Given the description of an element on the screen output the (x, y) to click on. 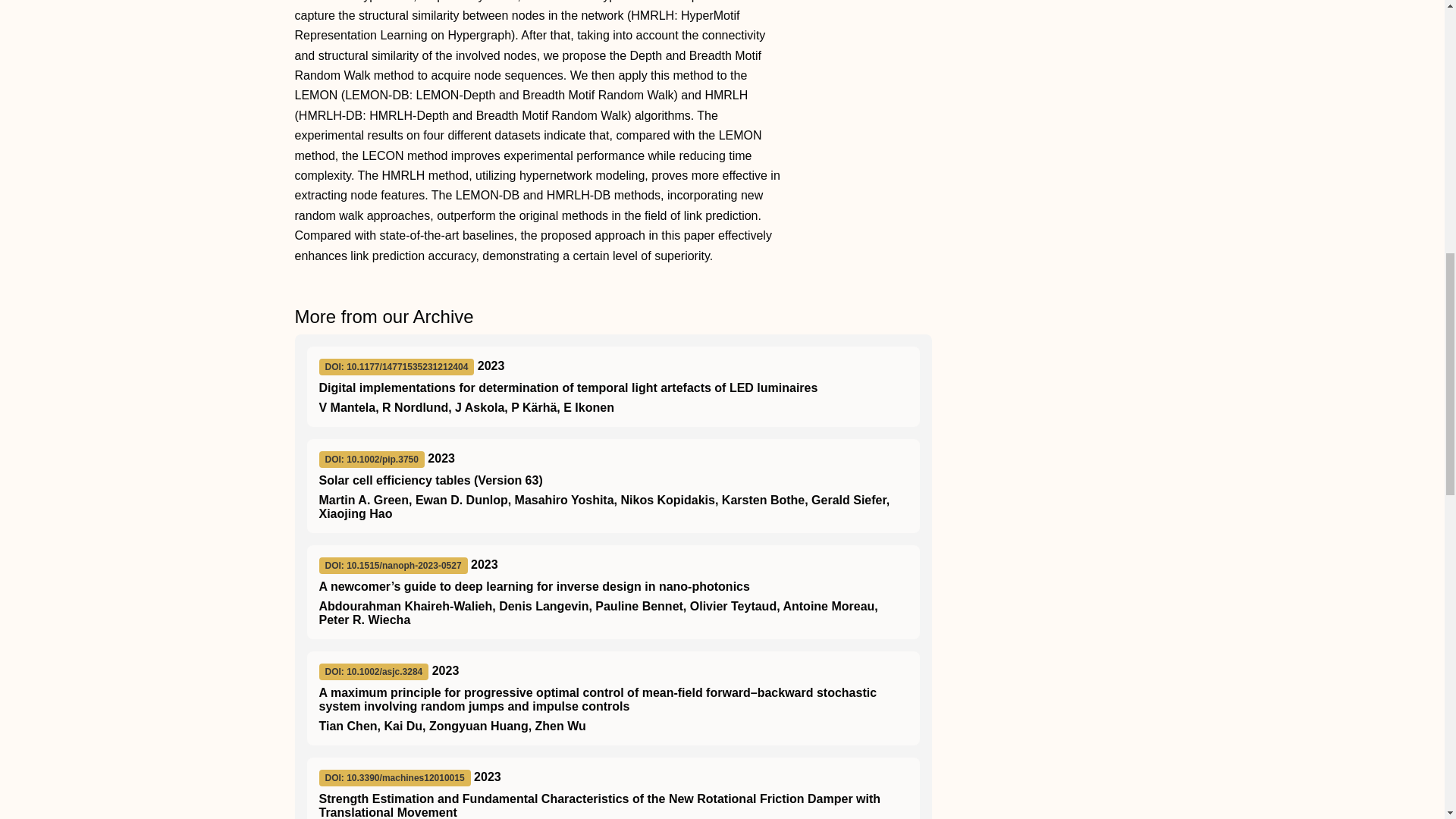
Advertisement (1049, 56)
